Given the description of an element on the screen output the (x, y) to click on. 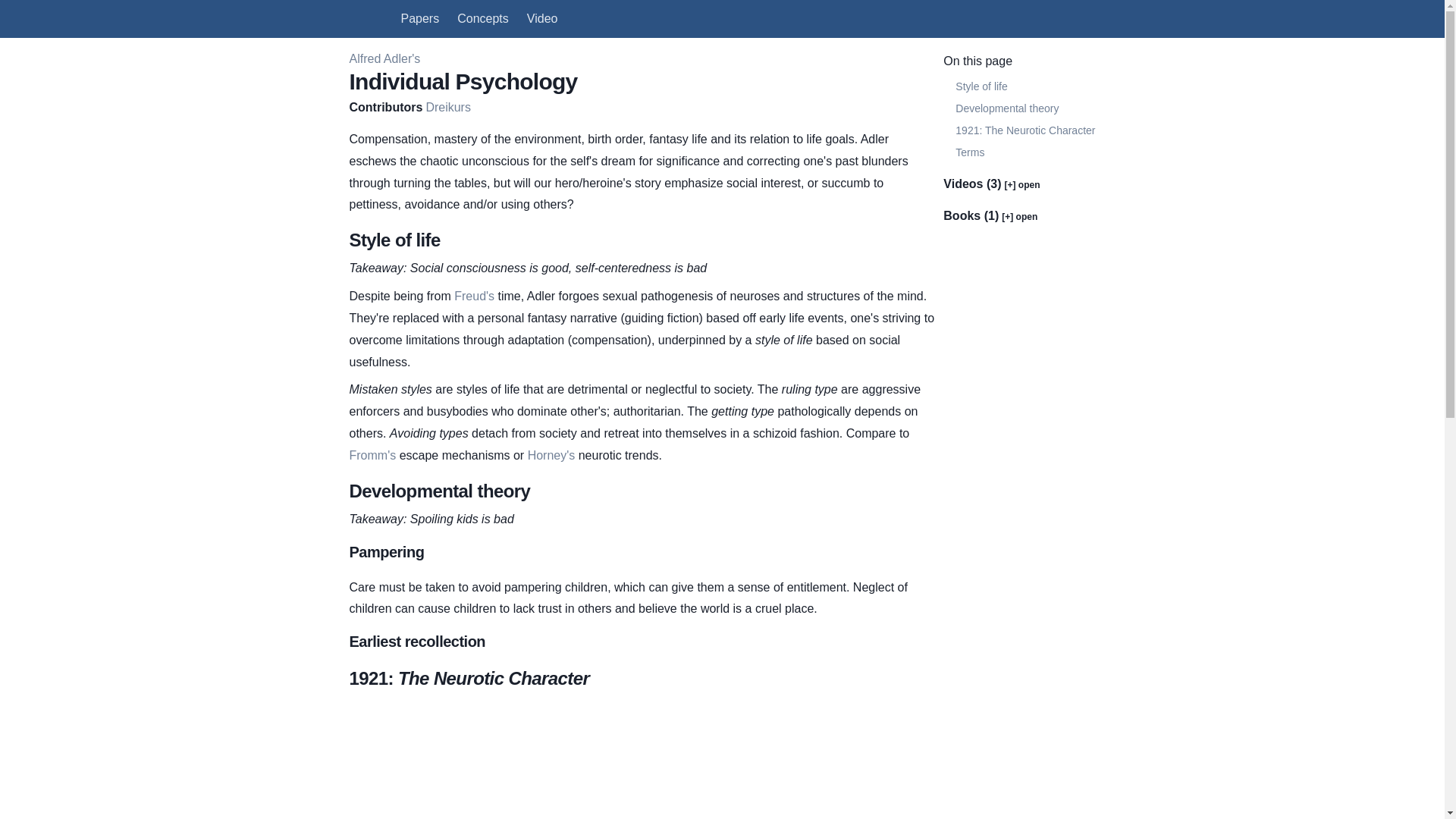
Freud's (474, 295)
1921: The Neurotic Character (1020, 130)
Terms (1020, 152)
Style of life (1020, 86)
Developmental theory (1020, 108)
Horney's (551, 454)
Concepts (482, 18)
Papers (419, 18)
Dreikurs (447, 106)
Alfred Adler's (384, 58)
Fromm's (372, 454)
Video (542, 18)
